Given the description of an element on the screen output the (x, y) to click on. 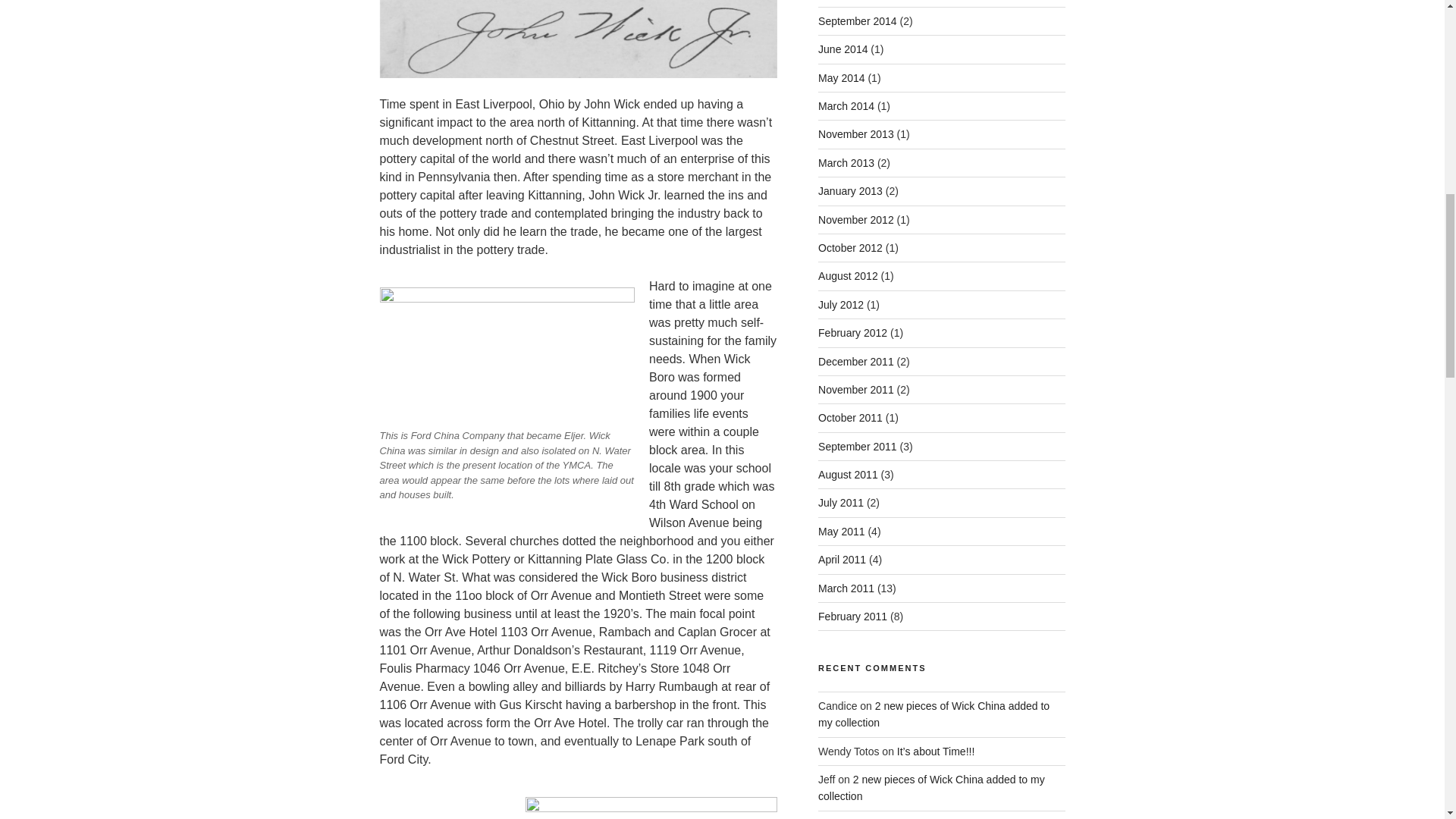
wick business thb (651, 807)
March 2014 (846, 105)
June 2014 (842, 49)
March 2013 (846, 162)
November 2013 (855, 133)
May 2014 (841, 78)
September 2014 (857, 21)
